Given the description of an element on the screen output the (x, y) to click on. 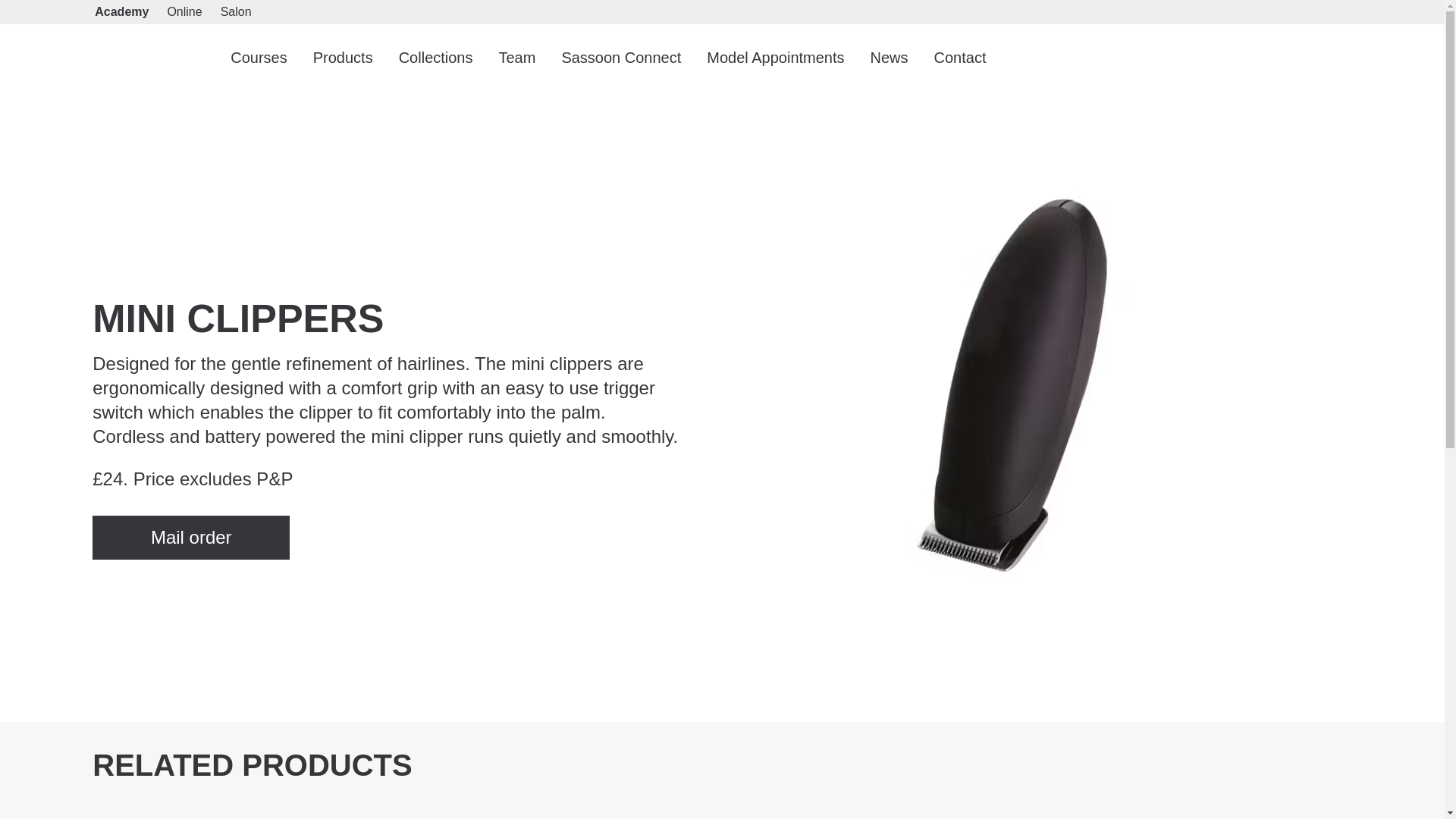
Academy (121, 12)
Salon (236, 12)
Online (184, 12)
Academy (141, 57)
